Given the description of an element on the screen output the (x, y) to click on. 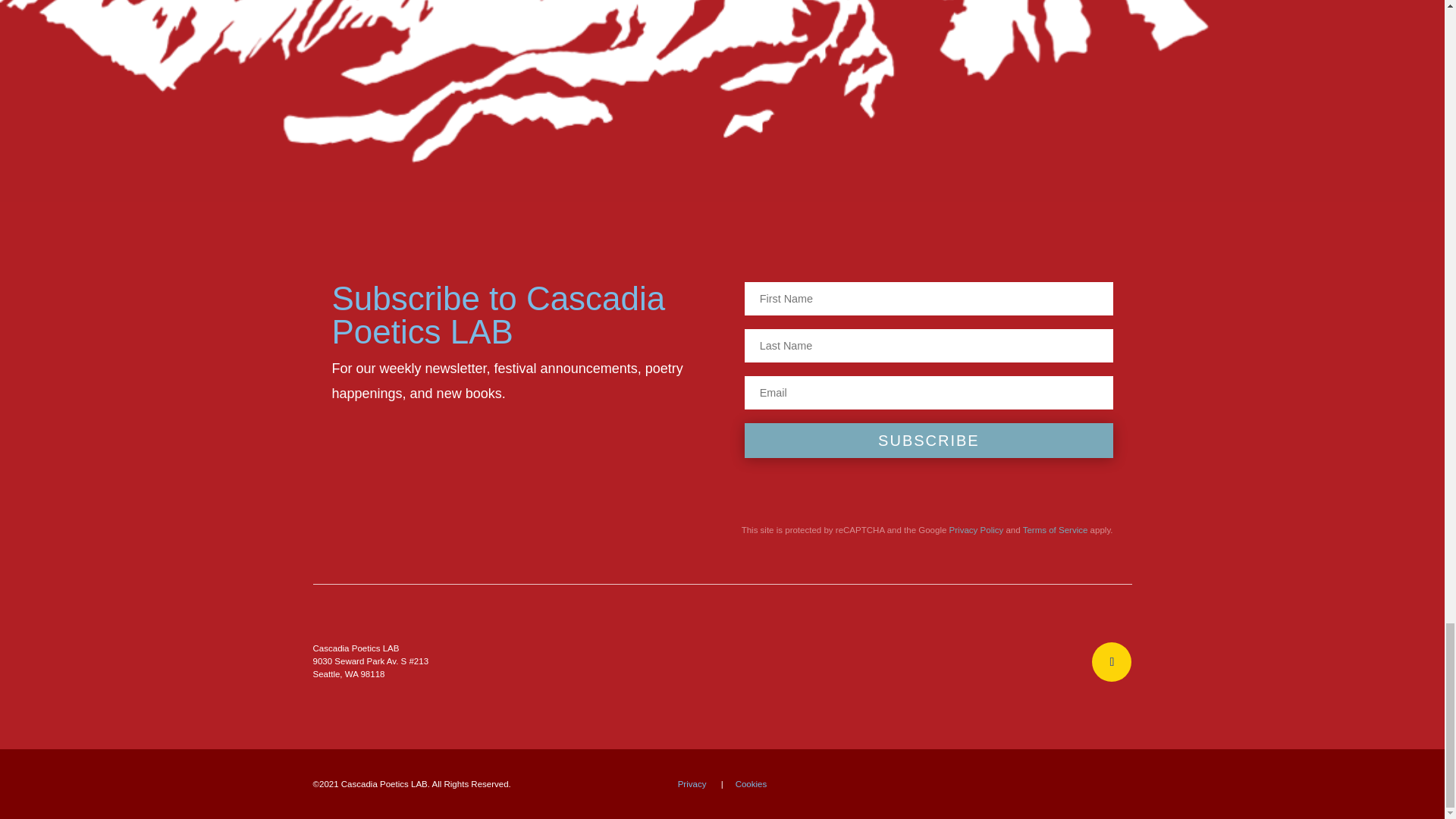
Follow on Facebook (1111, 661)
